Given the description of an element on the screen output the (x, y) to click on. 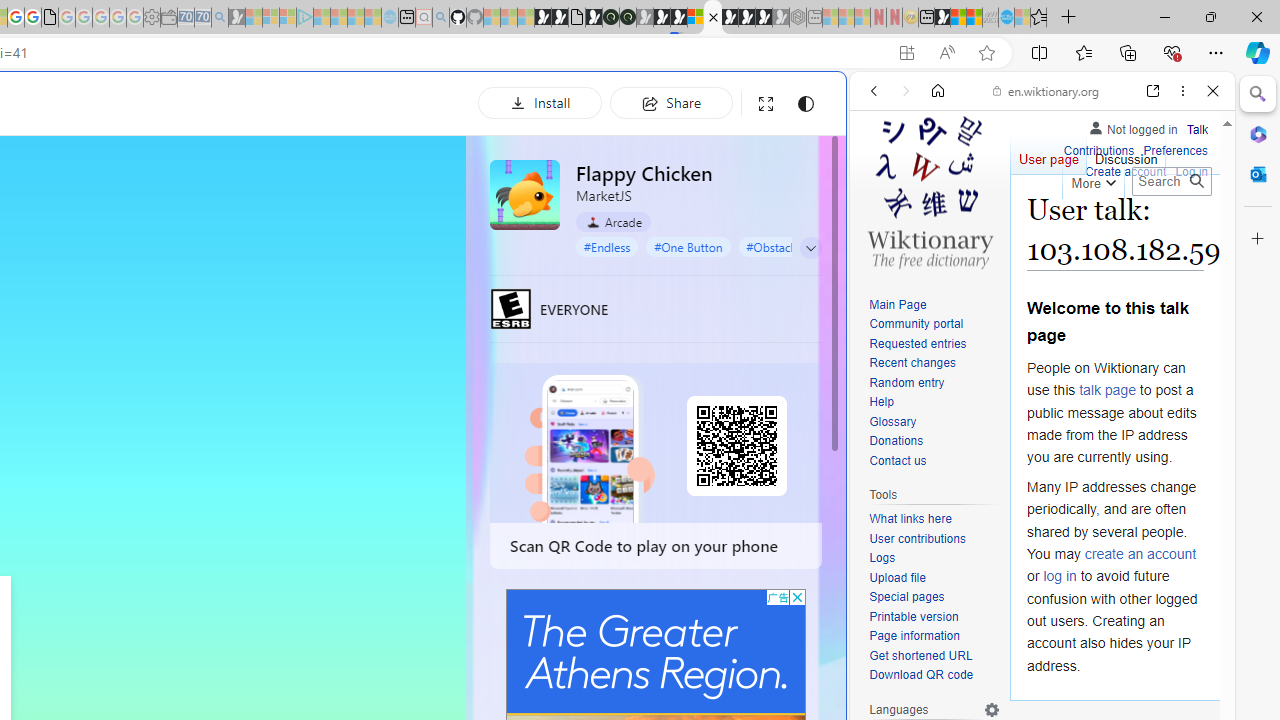
Contributions (1098, 148)
User page (1048, 154)
Visit the main page (929, 190)
Contact us (934, 461)
EVERYONE (511, 308)
Printable version (934, 616)
Search or enter web address (343, 191)
Search Filter, VIDEOS (1006, 228)
User page (1048, 154)
